Given the description of an element on the screen output the (x, y) to click on. 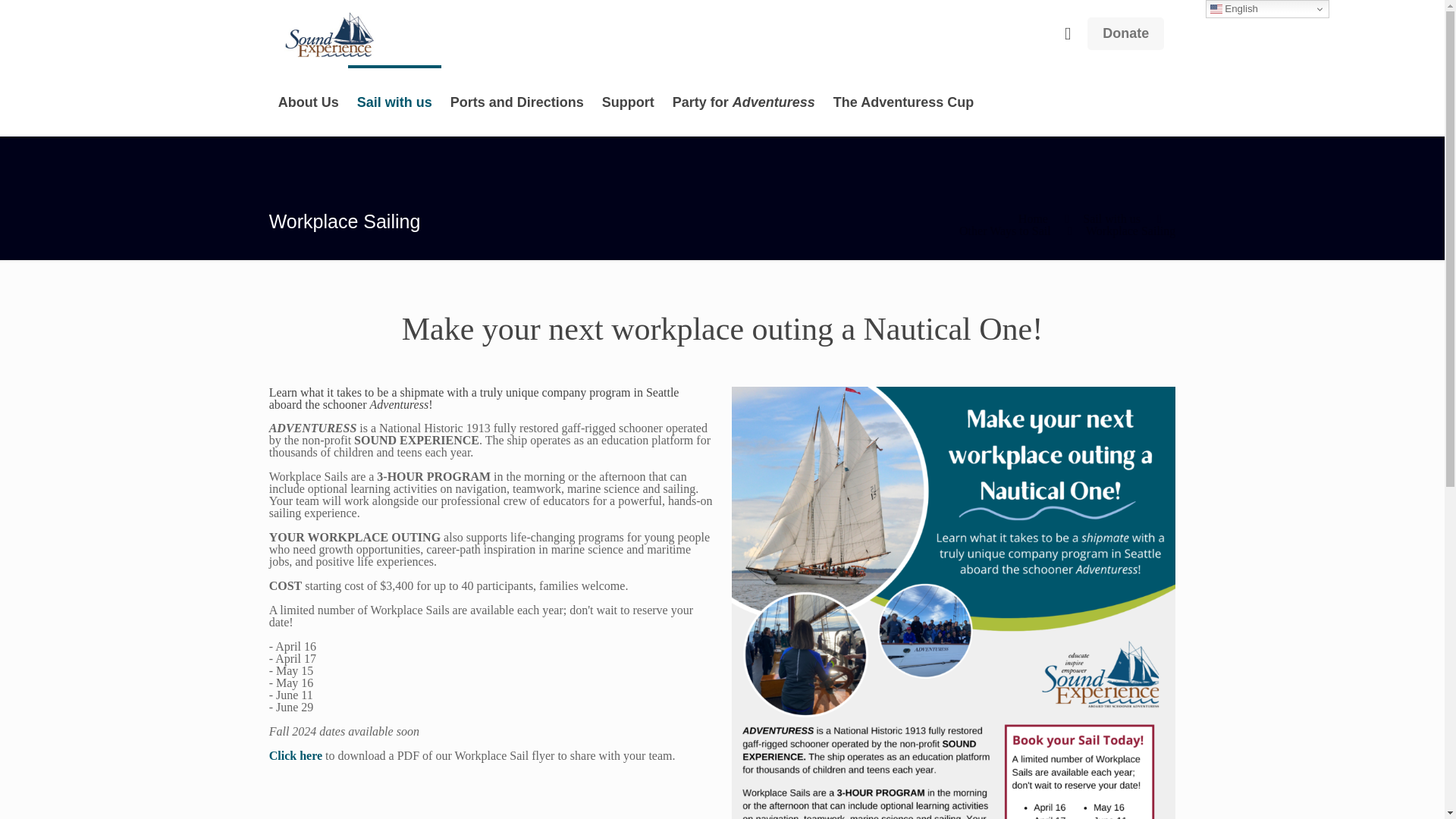
Sound Experience (329, 33)
Sail with us (394, 101)
About Us (308, 101)
